Given the description of an element on the screen output the (x, y) to click on. 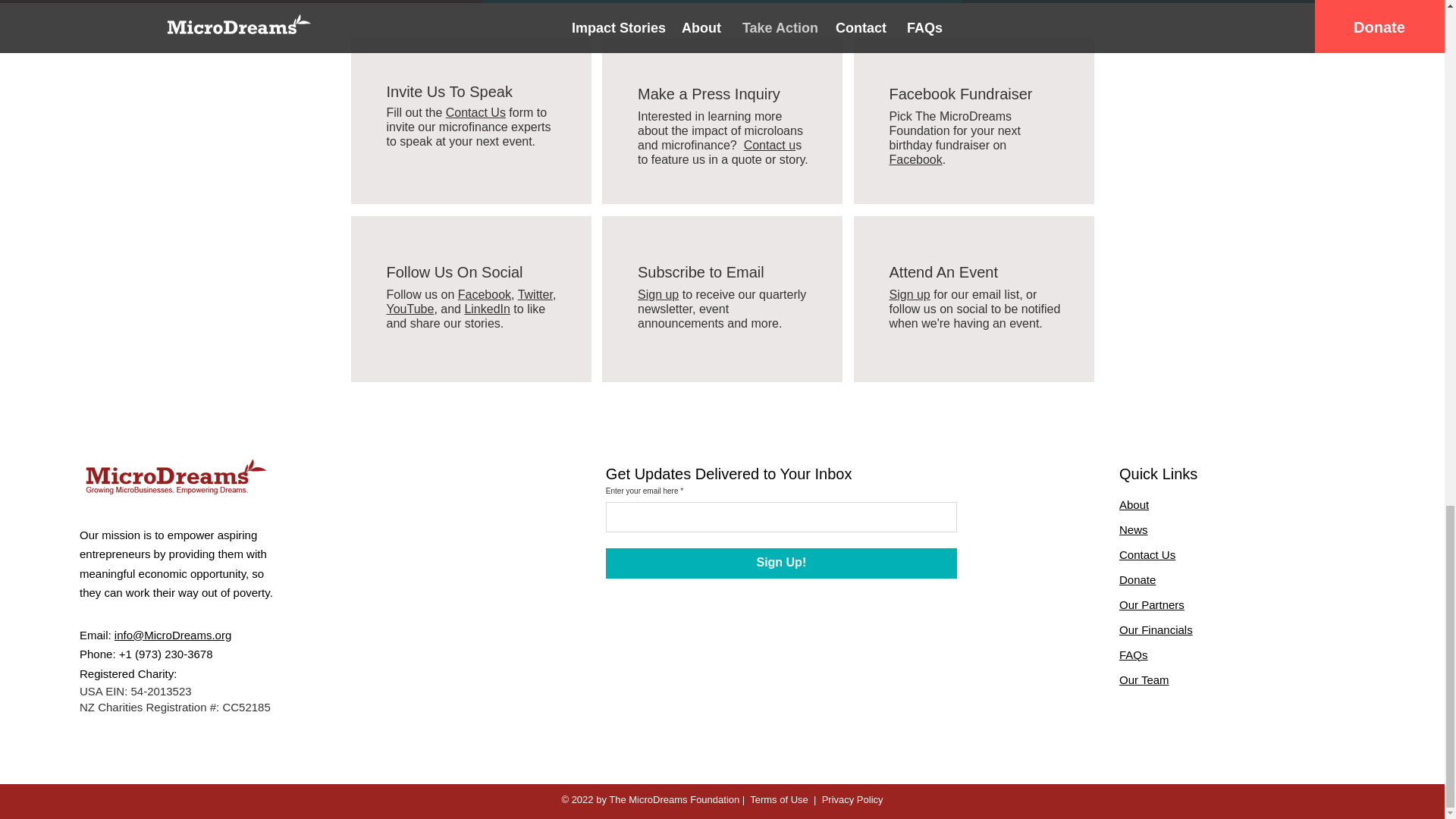
Privacy Policy (852, 799)
News (1133, 529)
Sign up (909, 294)
Contact Us (475, 112)
Our Team (1144, 679)
Facebook (915, 159)
Our Partners (1152, 604)
LinkedIn (487, 308)
Facebook (484, 294)
YouTube (410, 308)
Twitter (535, 294)
Sign up (657, 294)
Donate (1137, 579)
Contact Us (1146, 554)
Terms of Use (778, 799)
